Given the description of an element on the screen output the (x, y) to click on. 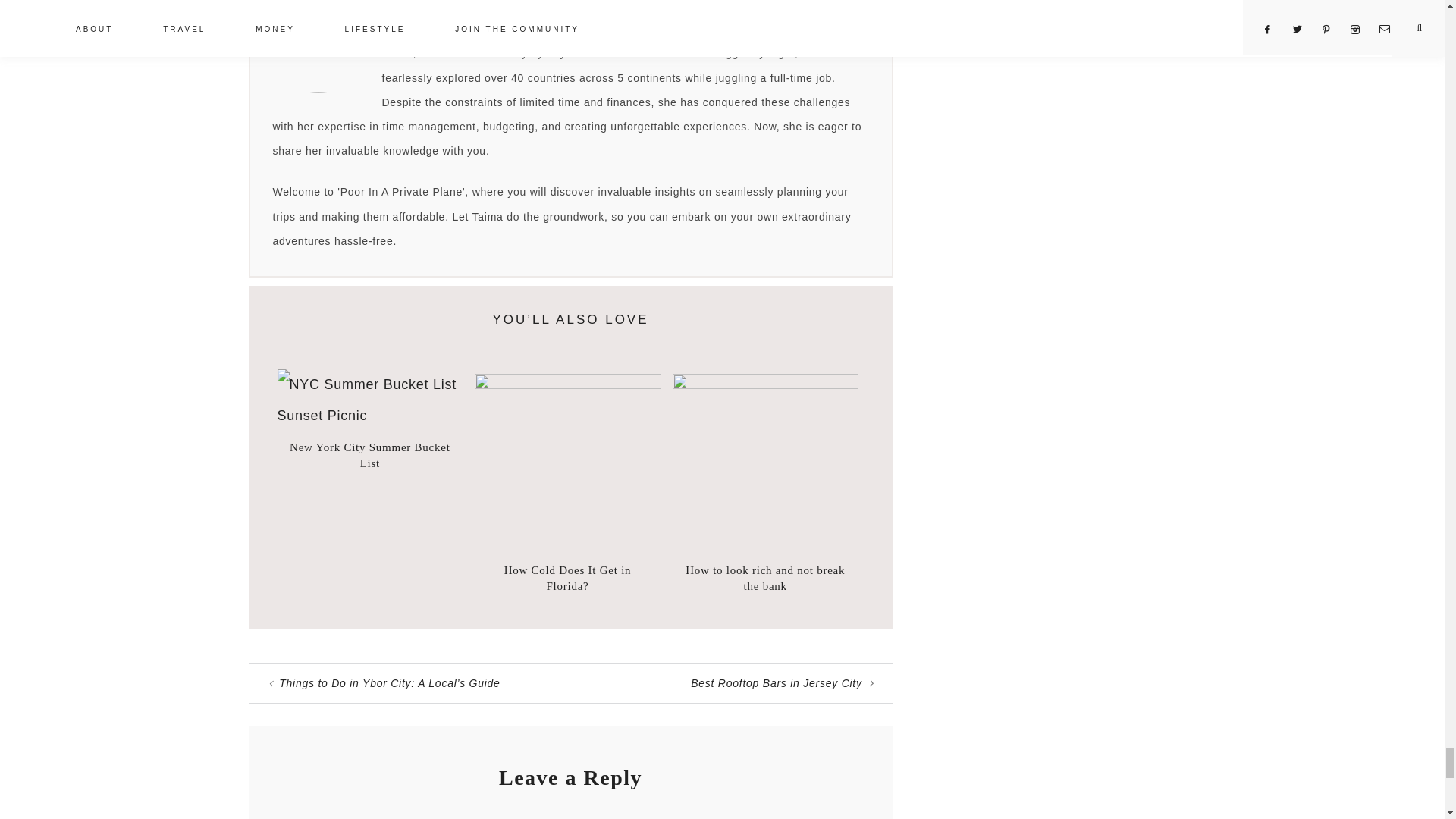
Permanent Link to How Cold Does It Get in Florida? (567, 384)
Permanent Link to New York City Summer Bucket List (370, 455)
Permanent Link to How to look rich and not break the bank (764, 578)
Permanent Link to How Cold Does It Get in Florida? (566, 578)
Permanent Link to How to look rich and not break the bank (765, 384)
Permanent Link to New York City Summer Bucket List (370, 415)
